Given the description of an element on the screen output the (x, y) to click on. 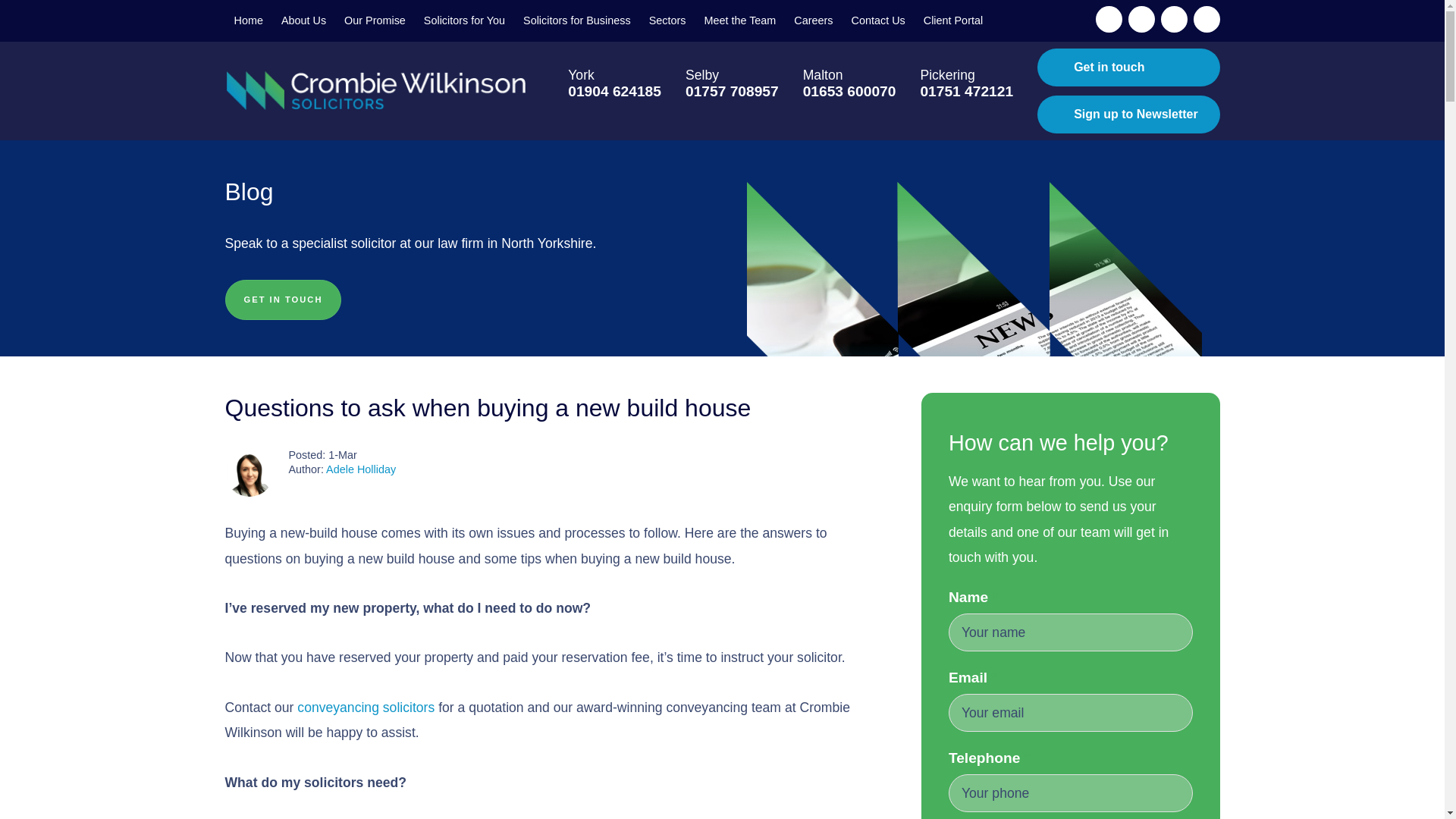
Solicitors for Business (576, 20)
Solicitors for You (463, 20)
About Us (303, 20)
View profile for Adele Holliday (248, 471)
Home (247, 20)
Our Promise (374, 20)
